Given the description of an element on the screen output the (x, y) to click on. 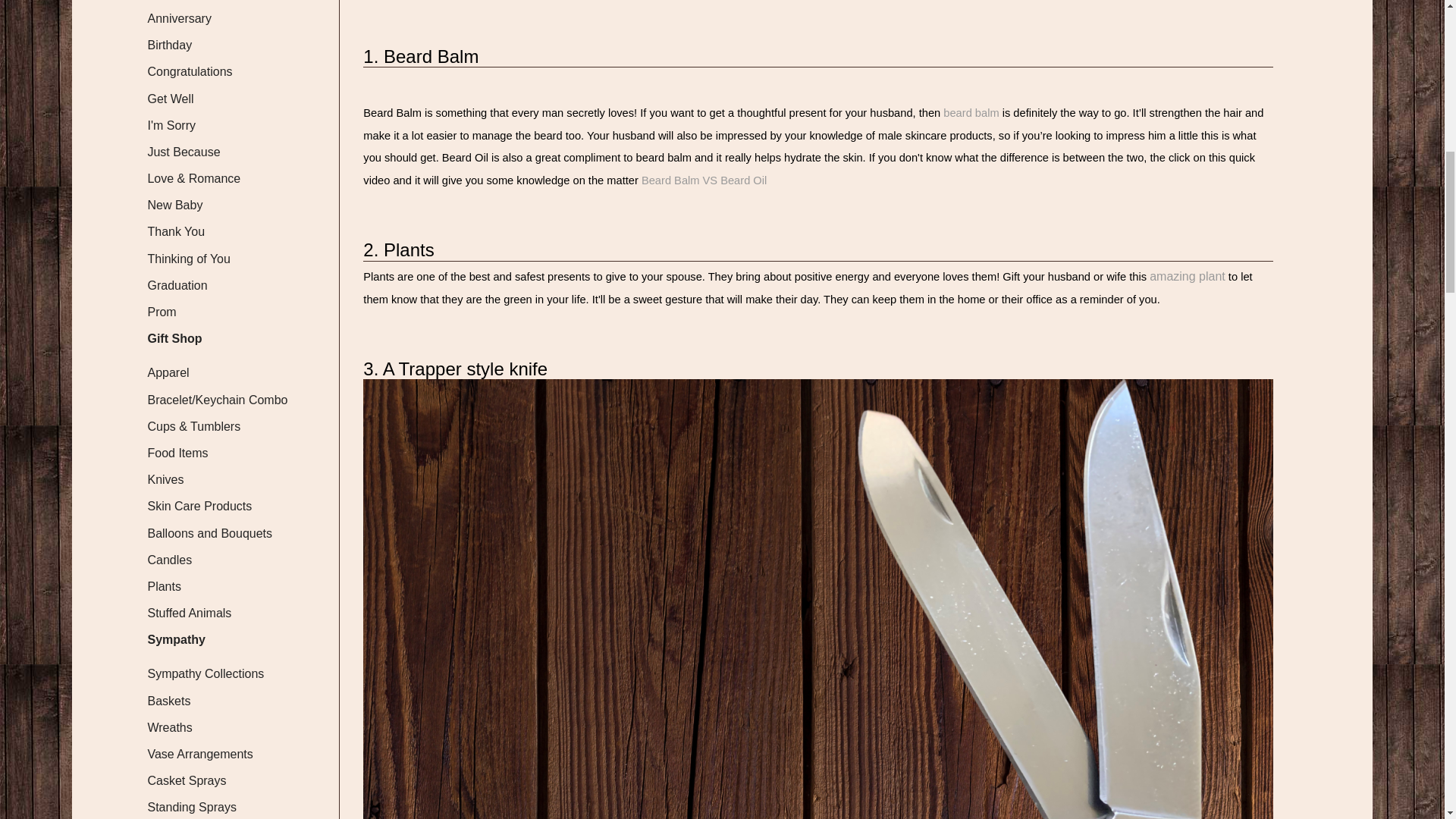
Beard Balm VS Beard Oil (704, 180)
Amazing Plant (1187, 276)
